Given the description of an element on the screen output the (x, y) to click on. 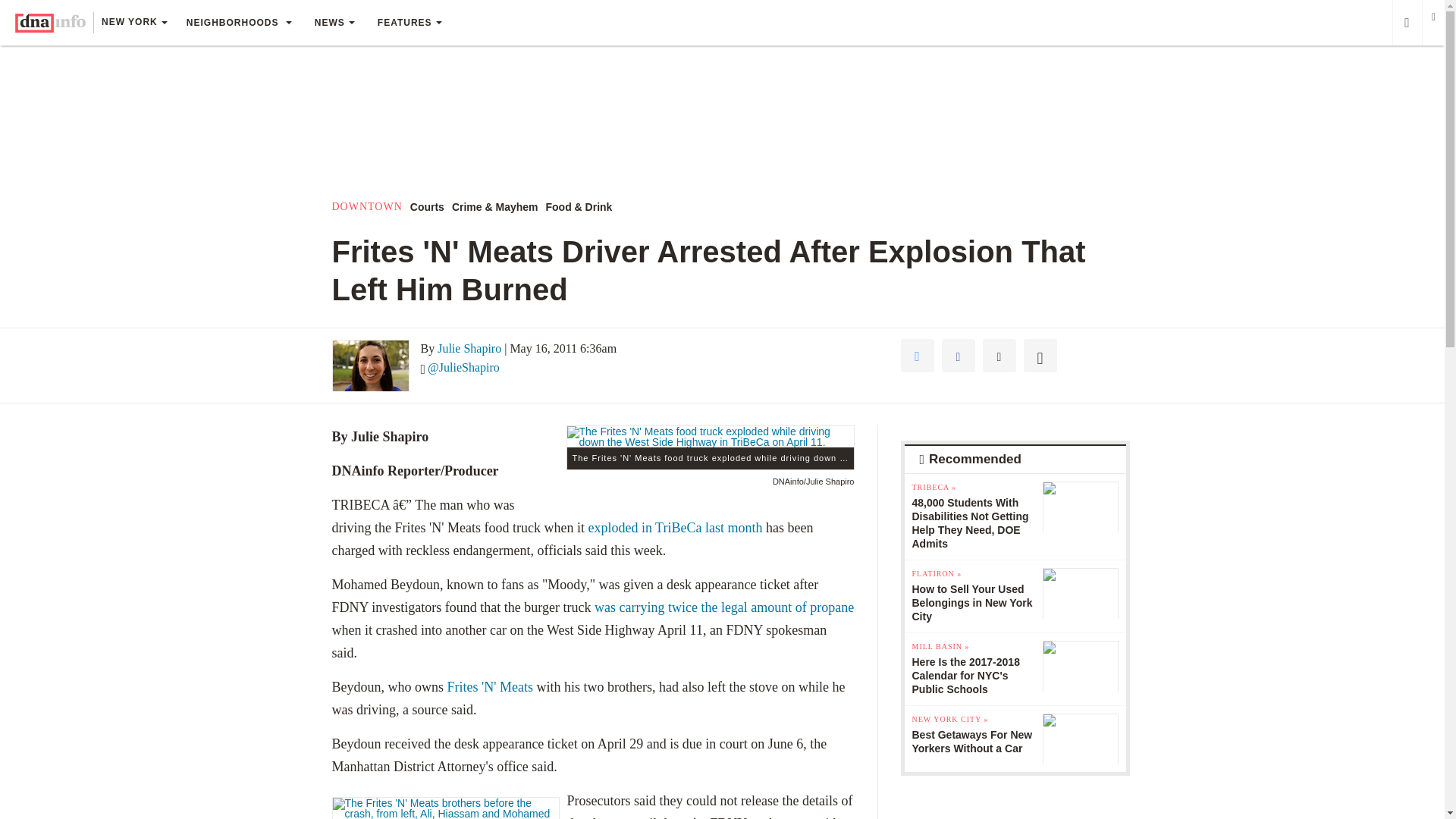
NEIGHBORHOODS (238, 22)
New York - Home (49, 22)
NEWS (334, 22)
NEW YORK (133, 23)
